Given the description of an element on the screen output the (x, y) to click on. 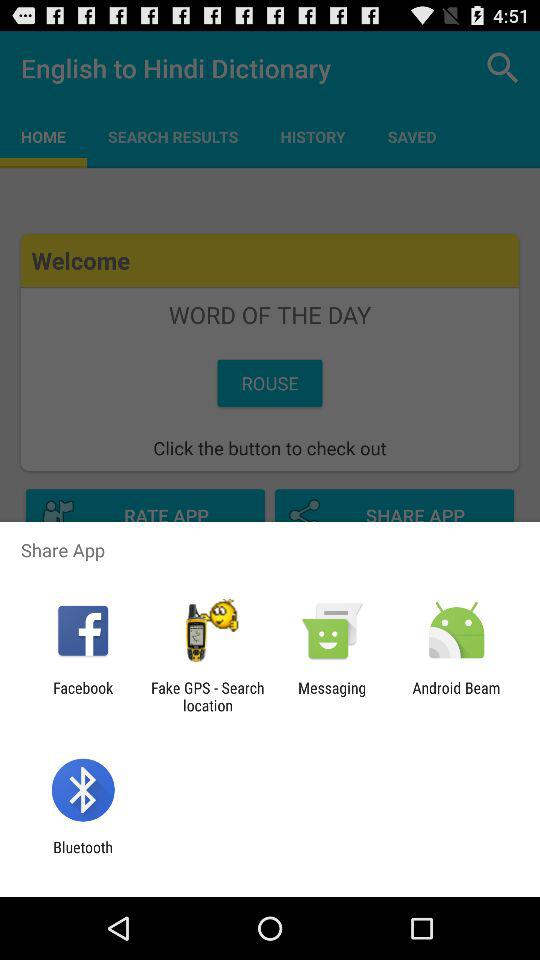
click icon next to fake gps search icon (332, 696)
